Given the description of an element on the screen output the (x, y) to click on. 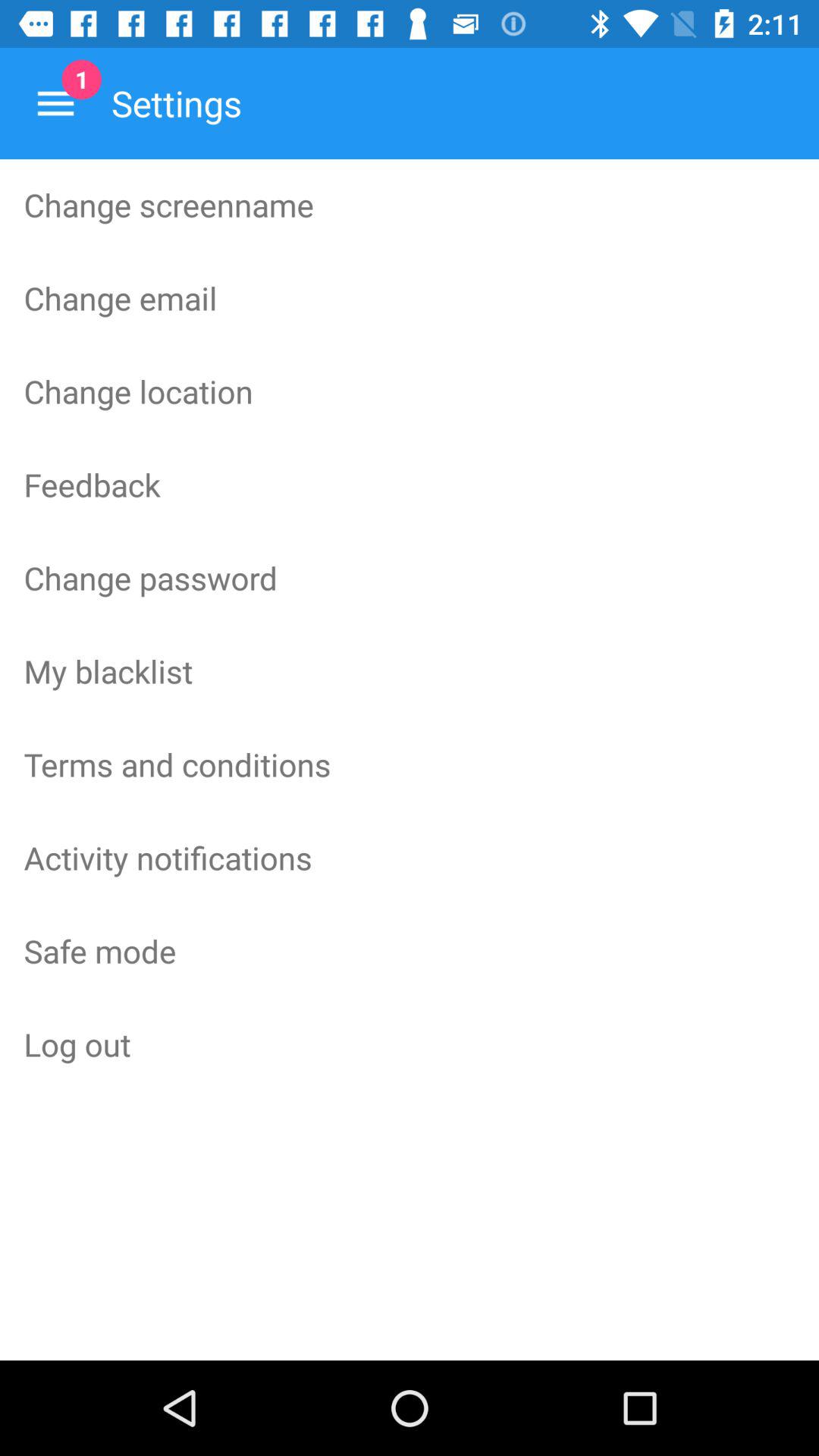
select the item below the change password (409, 670)
